Given the description of an element on the screen output the (x, y) to click on. 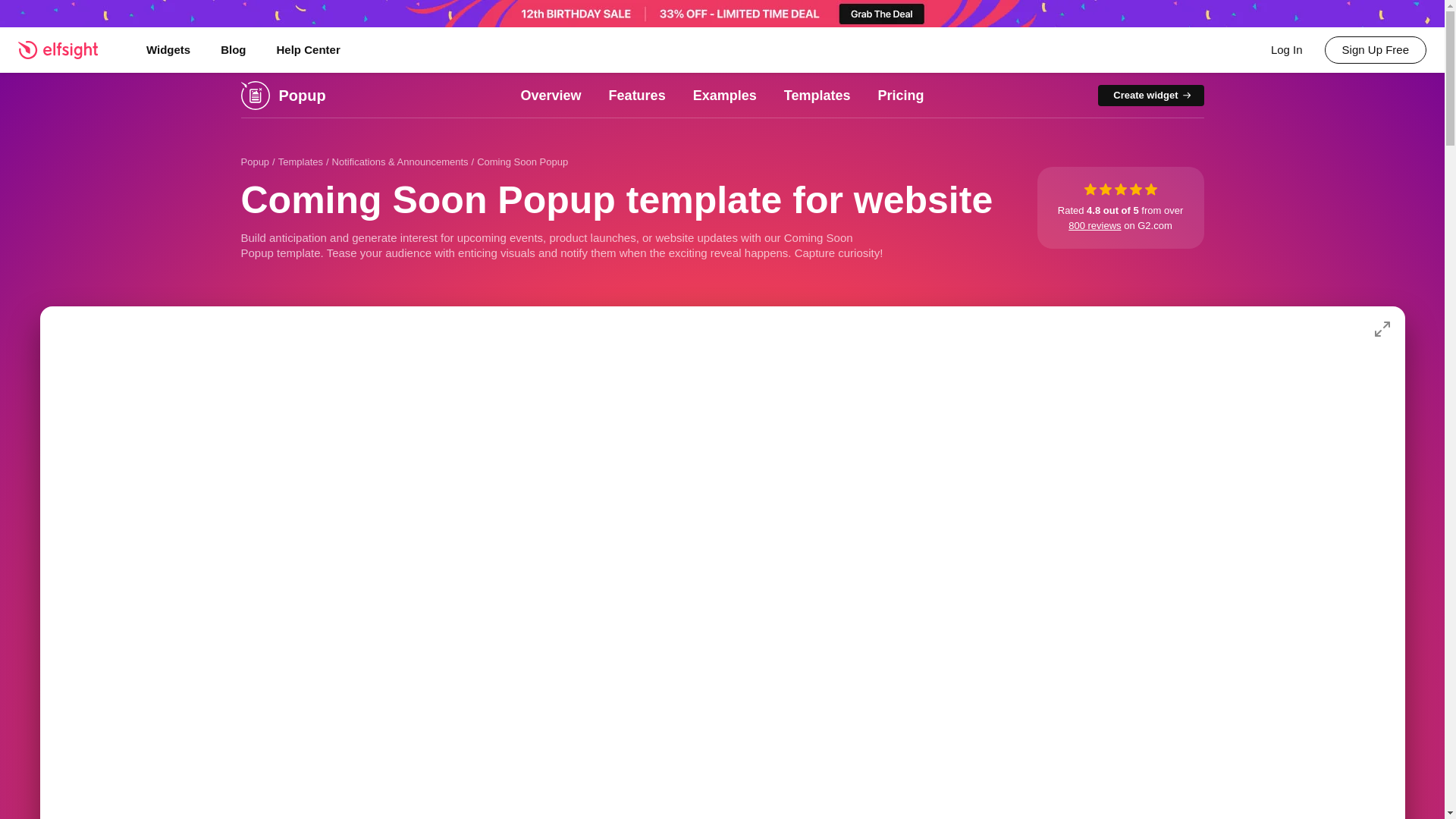
Elfsight - Premium Plugins For Websites (66, 49)
Widgets (168, 49)
Full Screen (1381, 329)
